Given the description of an element on the screen output the (x, y) to click on. 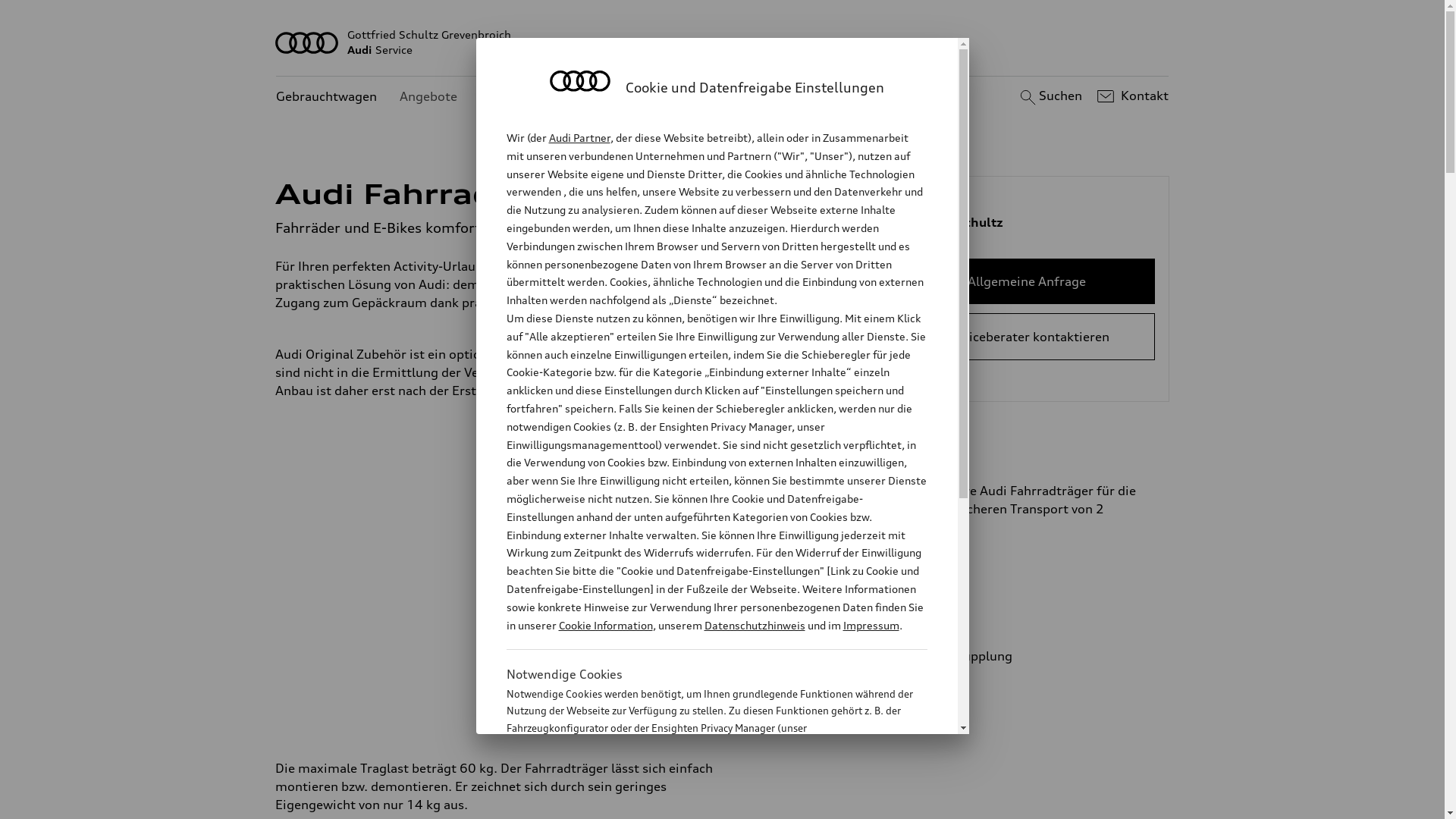
Datenschutzhinweis Element type: text (753, 624)
Cookie Information Element type: text (605, 624)
Audi Partner Element type: text (579, 137)
Gebrauchtwagen Element type: text (326, 96)
Gottfried Schultz Grevenbroich
AudiService Element type: text (722, 42)
Angebote Element type: text (428, 96)
Kontakt Element type: text (1130, 96)
Suchen Element type: text (1049, 96)
Impressum Element type: text (871, 624)
Kundenservice Element type: text (523, 96)
Cookie Information Element type: text (700, 802)
Serviceberater kontaktieren Element type: text (1025, 336)
Allgemeine Anfrage Element type: text (1025, 281)
